Given the description of an element on the screen output the (x, y) to click on. 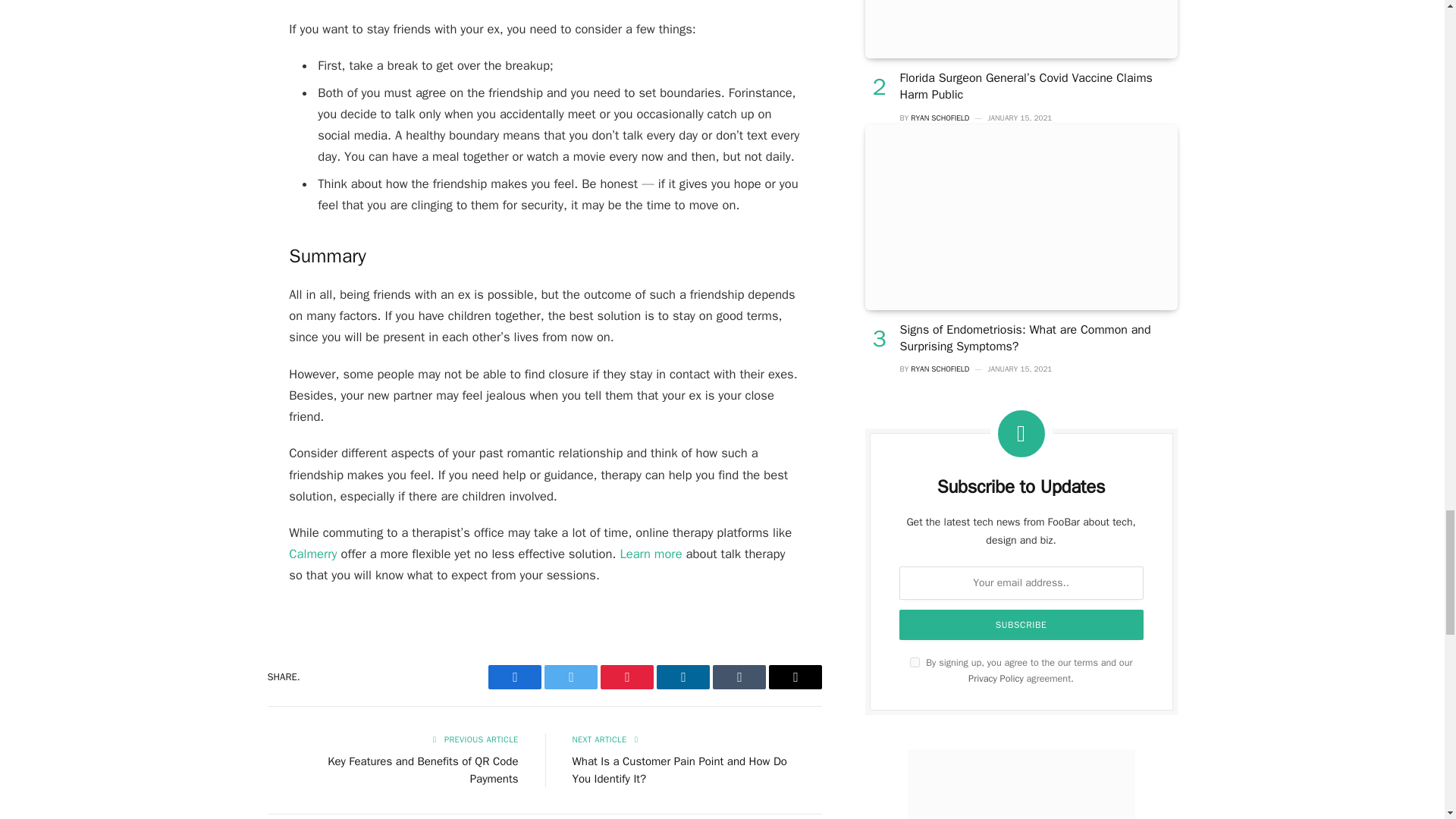
Subscribe (1020, 624)
on (915, 662)
